Given the description of an element on the screen output the (x, y) to click on. 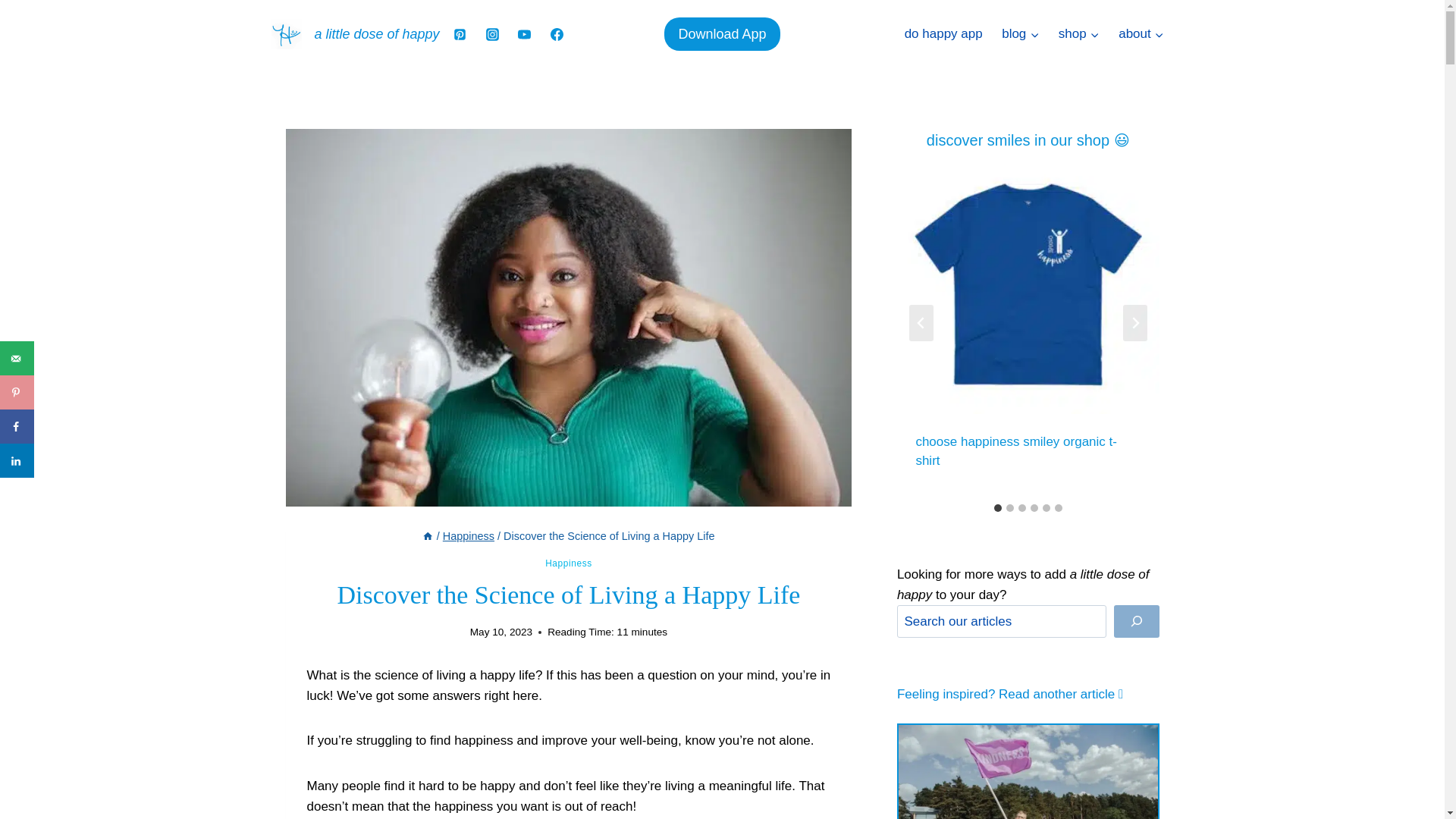
do happy app (943, 33)
a little dose of happy (354, 33)
about (1140, 33)
Send over email (16, 358)
Save to Pinterest (16, 392)
Download App (720, 33)
Happiness (468, 535)
Happiness (568, 562)
Share on Facebook (16, 426)
Share on LinkedIn (16, 460)
